Given the description of an element on the screen output the (x, y) to click on. 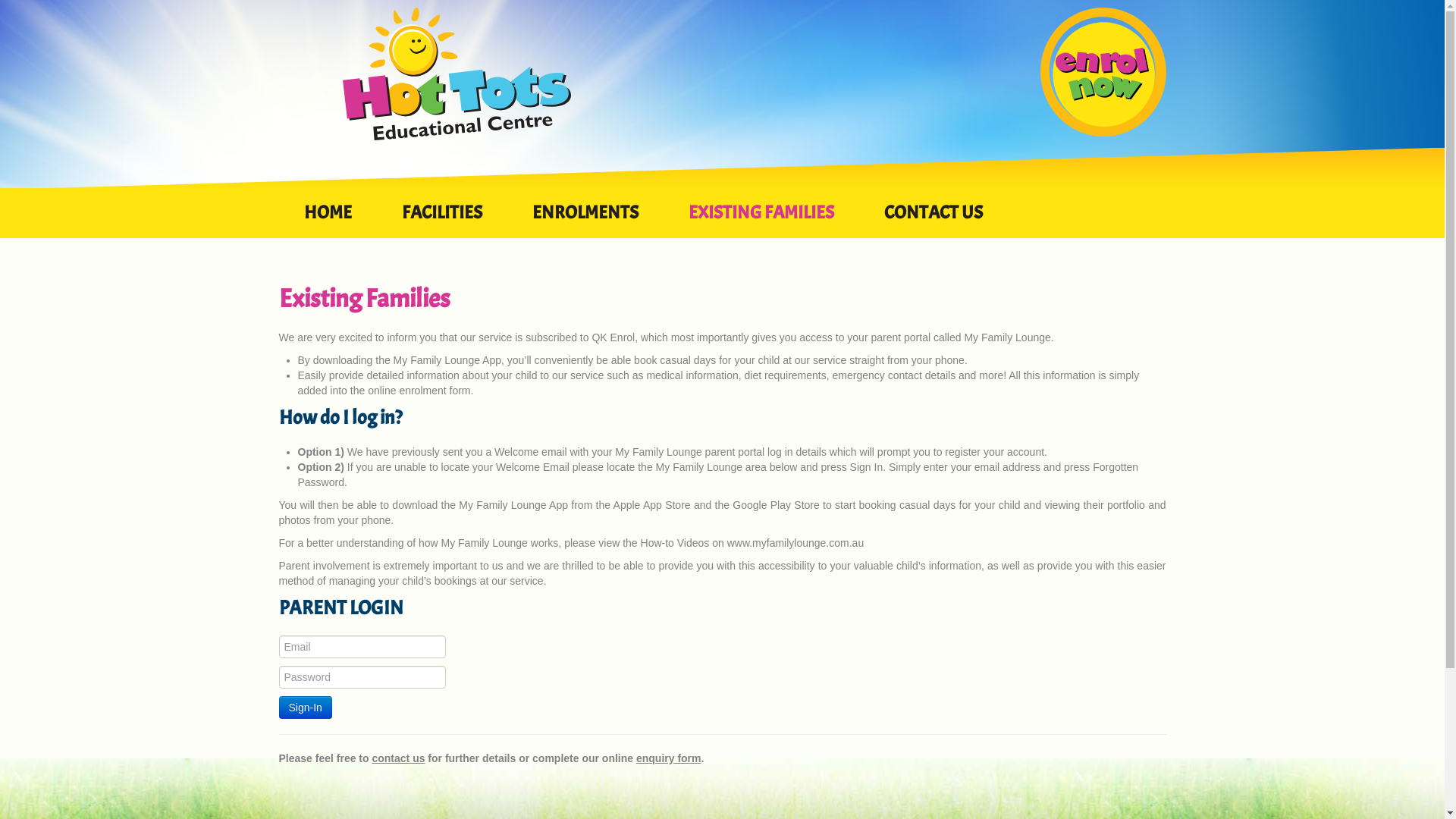
enquiry form Element type: text (668, 758)
contact us Element type: text (397, 758)
HOME Element type: text (327, 220)
EXISTING FAMILIES Element type: text (760, 220)
ENROLMENTS Element type: text (584, 220)
Sign-In Element type: text (305, 707)
CONTACT US Element type: text (932, 220)
FACILITIES Element type: text (441, 220)
